Given the description of an element on the screen output the (x, y) to click on. 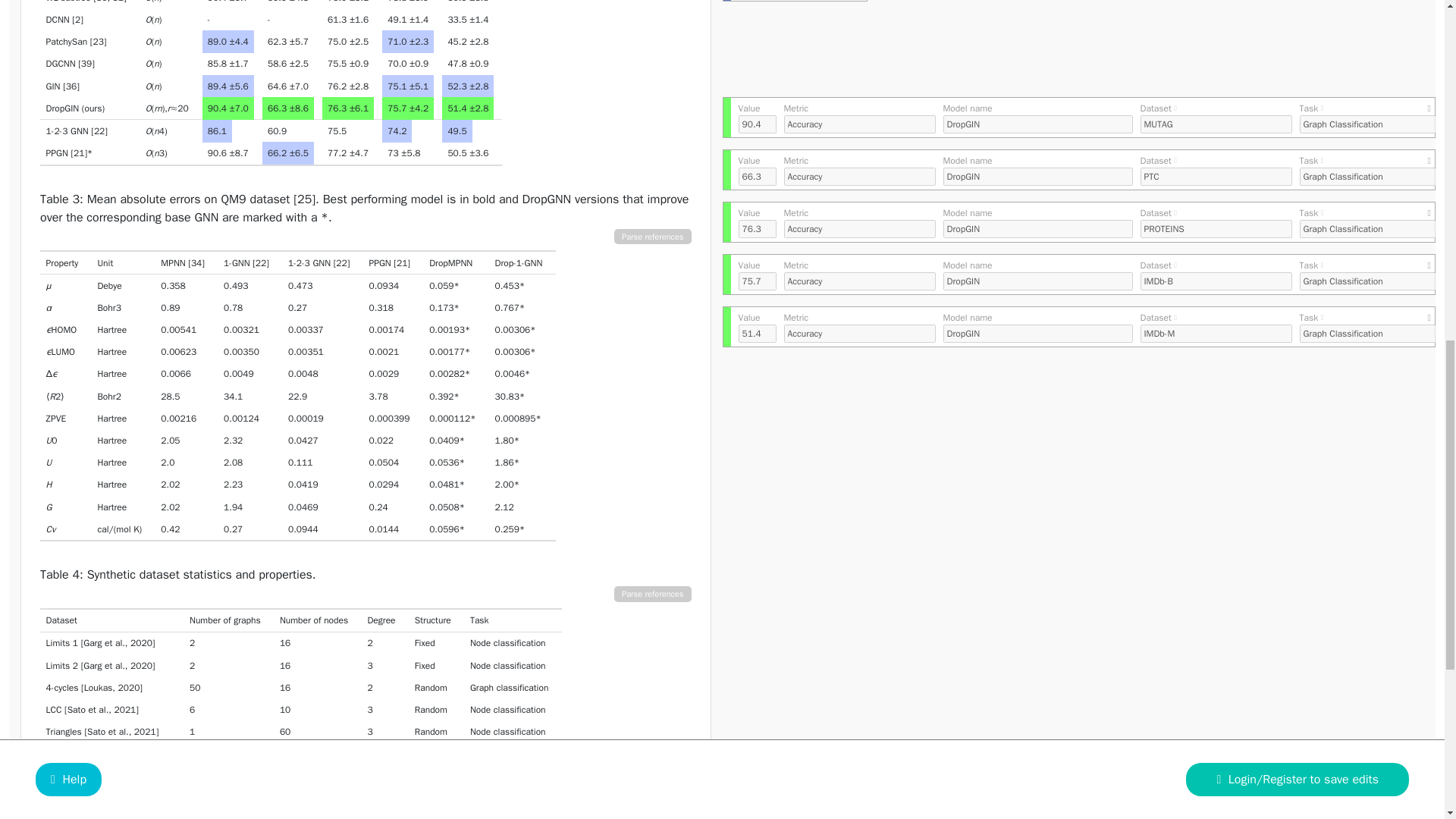
36 (71, 86)
bib-bib14 (118, 2)
bib-bib2 (141, 665)
22 (99, 131)
bib-bib11 (261, 263)
PROTEINS (1216, 229)
DropGIN (1037, 333)
bib-bib11 (341, 263)
31 (118, 2)
76.3 (757, 229)
bib-bib34 (196, 263)
66.3 (757, 176)
Accuracy (860, 333)
MUTAG (1216, 124)
90.4 (757, 124)
